Given the description of an element on the screen output the (x, y) to click on. 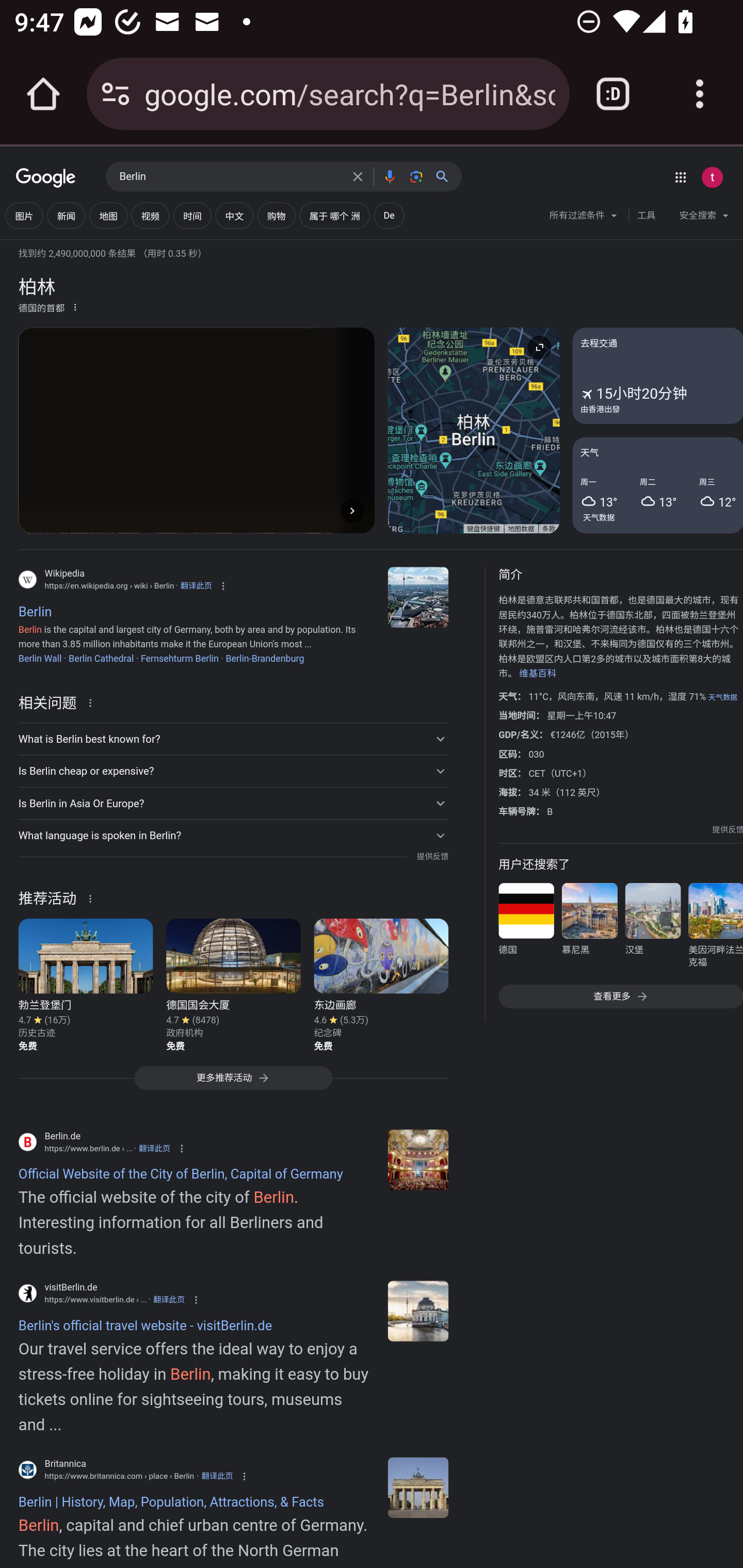
Open the home page (43, 93)
Connection is secure (115, 93)
Switch or close tabs (612, 93)
Customize and control Google Chrome (699, 93)
清除 (357, 176)
按语音搜索 (389, 176)
按图搜索 (415, 176)
搜索 (446, 176)
Google 应用 (680, 176)
Google 账号： test appium (testappium002@gmail.com) (712, 176)
Google (45, 178)
Berlin (229, 177)
图片 (24, 215)
新闻 (65, 215)
地图 (107, 215)
视频 (149, 215)
添加“时间” 时间 (191, 215)
添加“中文” 中文 (234, 215)
购物 (276, 215)
添加“属于 哪个 洲” 属于 哪个 洲 (334, 215)
添加“De” De (388, 215)
所有过滤条件 (583, 217)
工具 (646, 215)
安全搜索 (703, 217)
更多选项 (74, 306)
去程交通 15小时20分钟 乘坐飞机 由香港出發 (657, 375)
展开地图 (539, 346)
天气 周一 高温 13 度 周二 高温 13 度 周三 高温 12 度 (657, 484)
下一张图片 (352, 510)
天气数据 (599, 516)
Berlin (417, 597)
翻译此页 (195, 585)
Berlin Wall (39, 658)
Berlin Cathedral (101, 658)
Fernsehturm Berlin (179, 658)
Berlin-Brandenburg (264, 658)
维基百科 (537, 672)
天气数据 (722, 697)
关于这条结果的详细信息 (93, 701)
What is Berlin best known for? (232, 738)
Is Berlin cheap or expensive? (232, 770)
Is Berlin in Asia Or Europe? (232, 803)
What language is spoken in Berlin? (232, 835)
提供反馈 (727, 829)
提供反馈 (432, 856)
德国 (526, 927)
慕尼黑 (588, 927)
汉堡 (652, 927)
美因河畔法兰克福 (715, 927)
关于这条结果的详细信息 (93, 897)
查看更多 查看更多 查看更多 (620, 996)
更多推荐活动 (232, 1082)
en (417, 1159)
翻译此页 (154, 1148)
en (417, 1310)
翻译此页 (169, 1299)
Berlin (417, 1486)
翻译此页 (216, 1476)
